Given the description of an element on the screen output the (x, y) to click on. 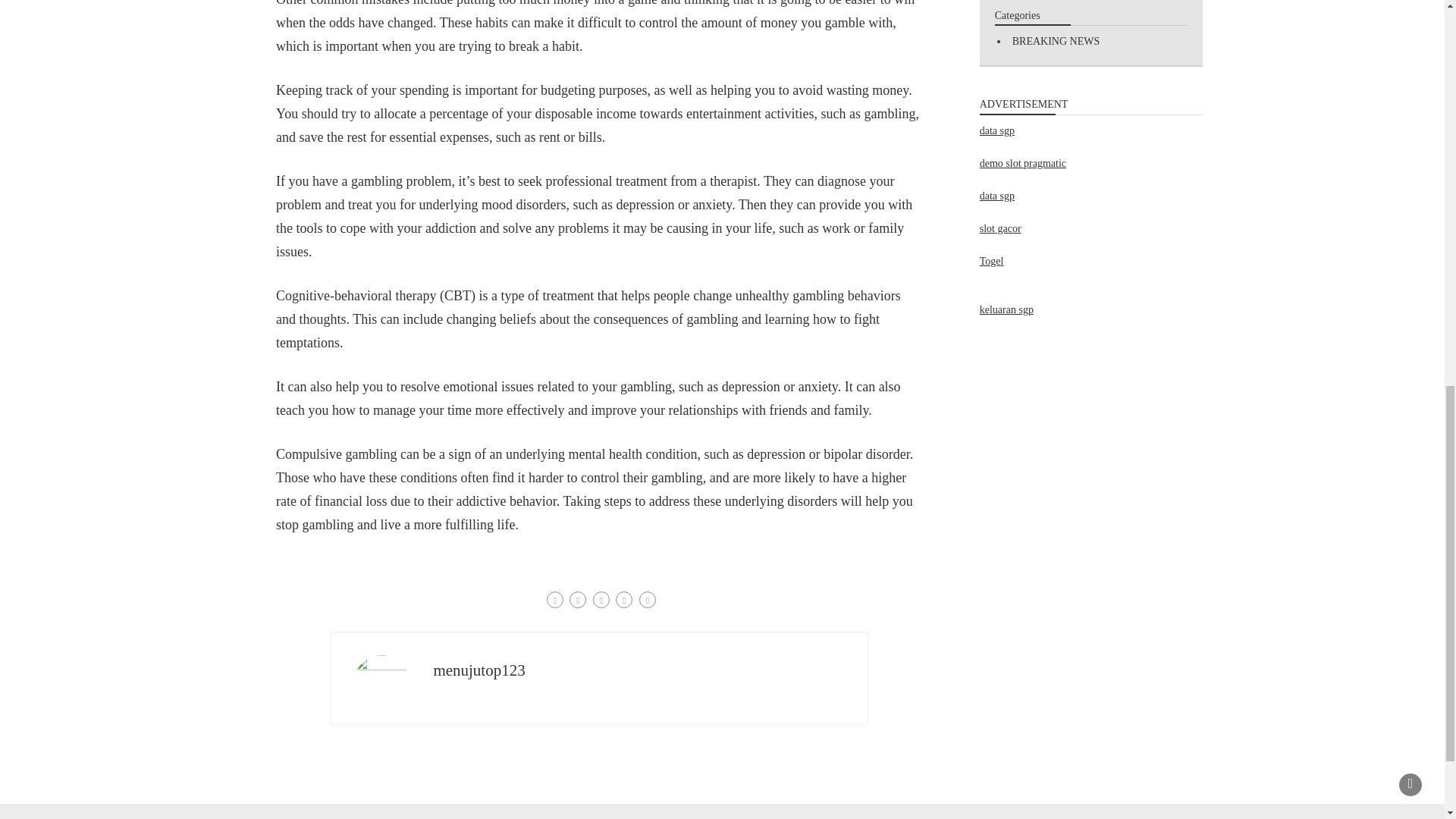
menujutop123 (478, 669)
